Given the description of an element on the screen output the (x, y) to click on. 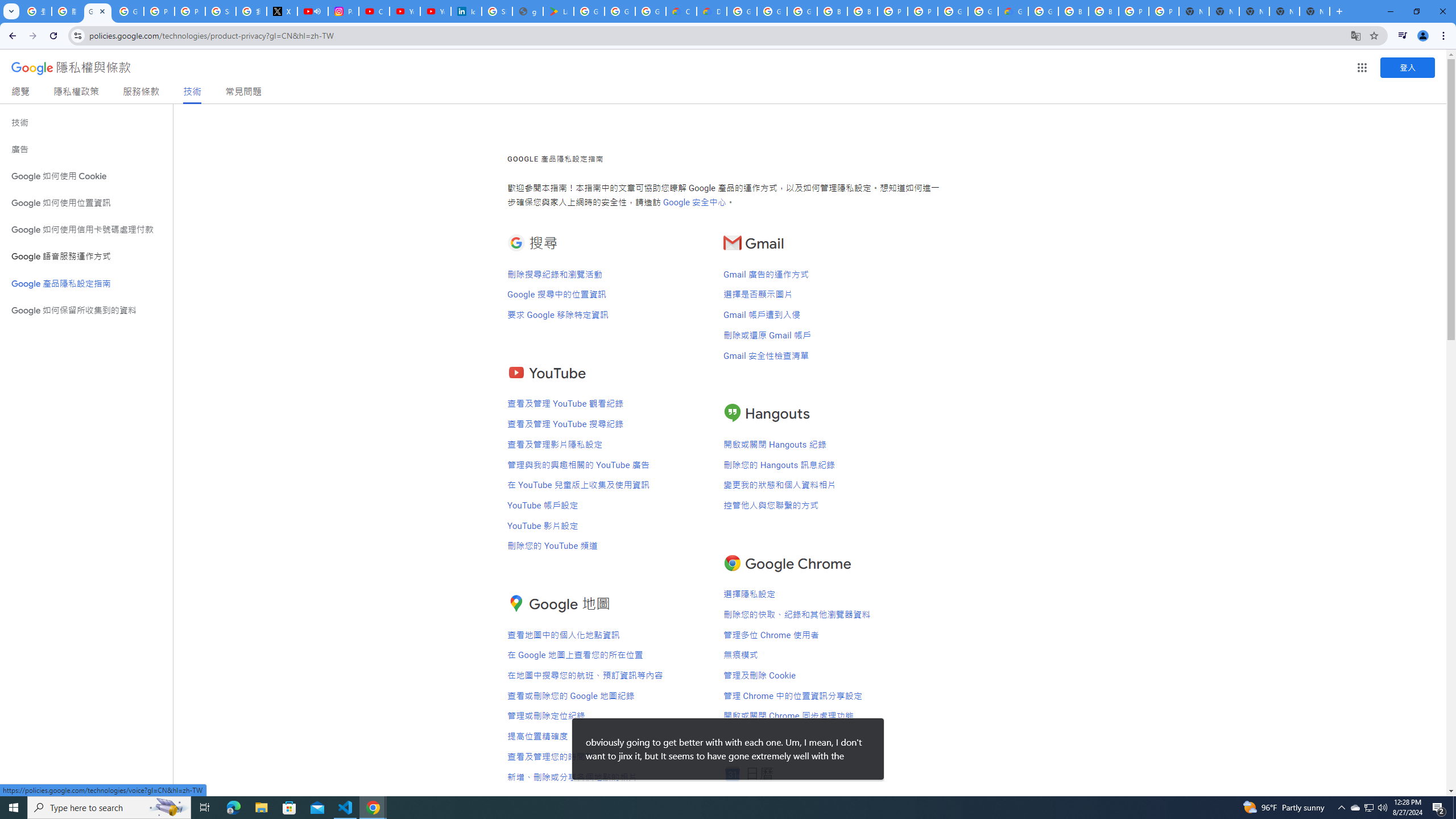
Sign in - Google Accounts (220, 11)
Google Cloud Platform (1042, 11)
X (282, 11)
